Given the description of an element on the screen output the (x, y) to click on. 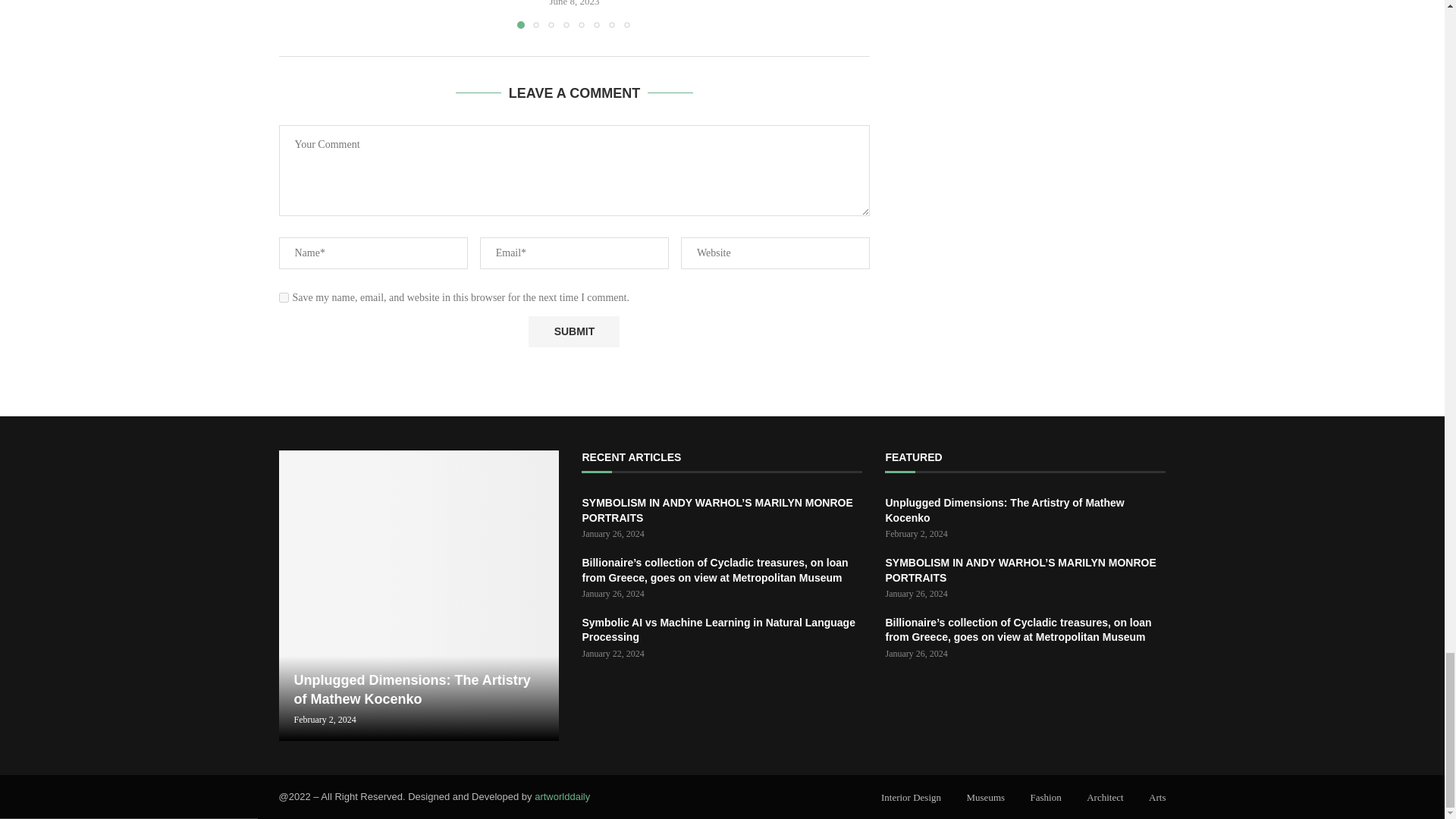
yes (283, 297)
Submit (574, 331)
